Given the description of an element on the screen output the (x, y) to click on. 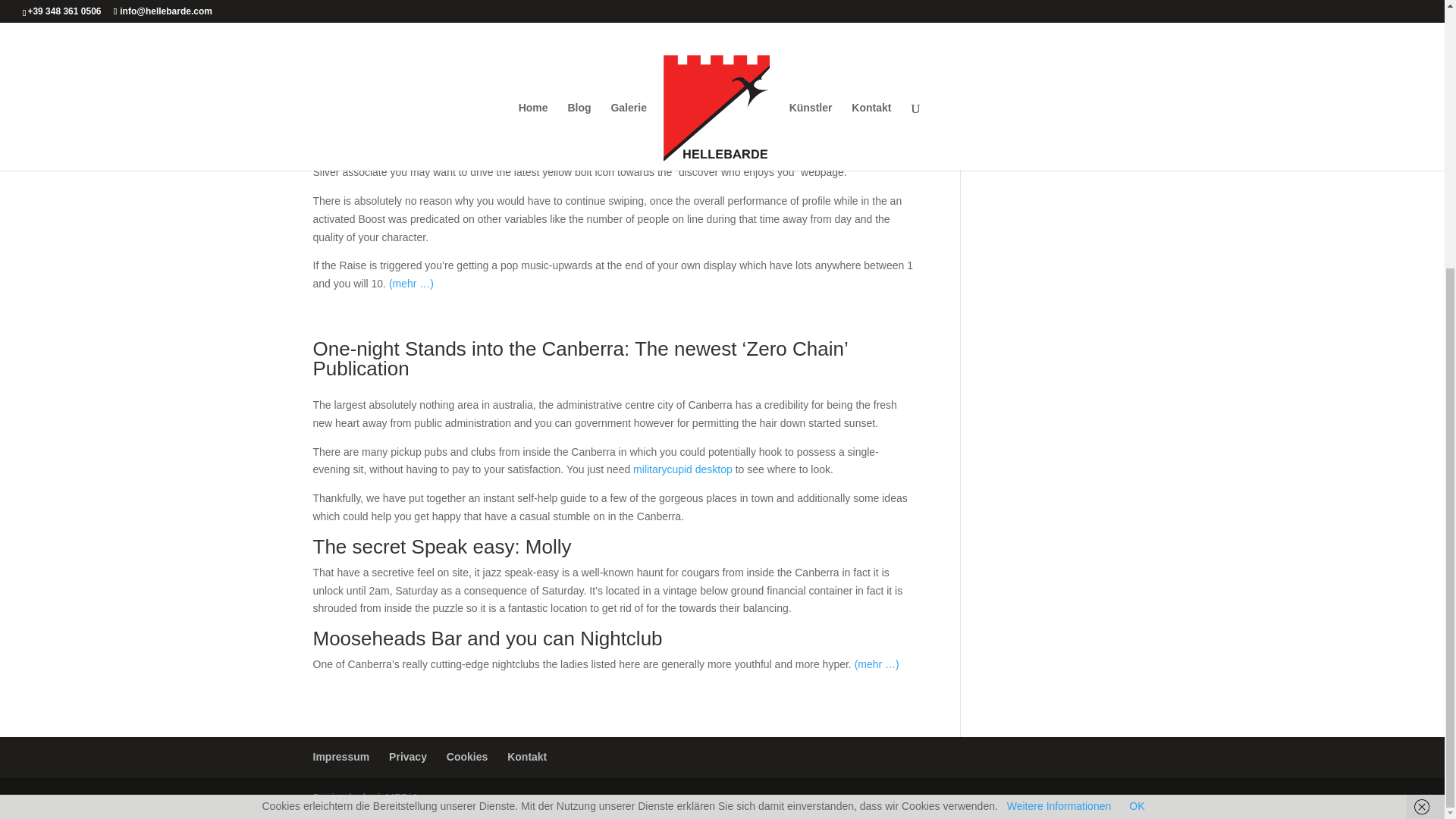
militarycupid desktop (682, 469)
Weitere Informationen (1058, 416)
Cookies (466, 756)
OK (1136, 416)
Privacy (407, 756)
Impressum (341, 756)
Kontakt (526, 756)
